Given the description of an element on the screen output the (x, y) to click on. 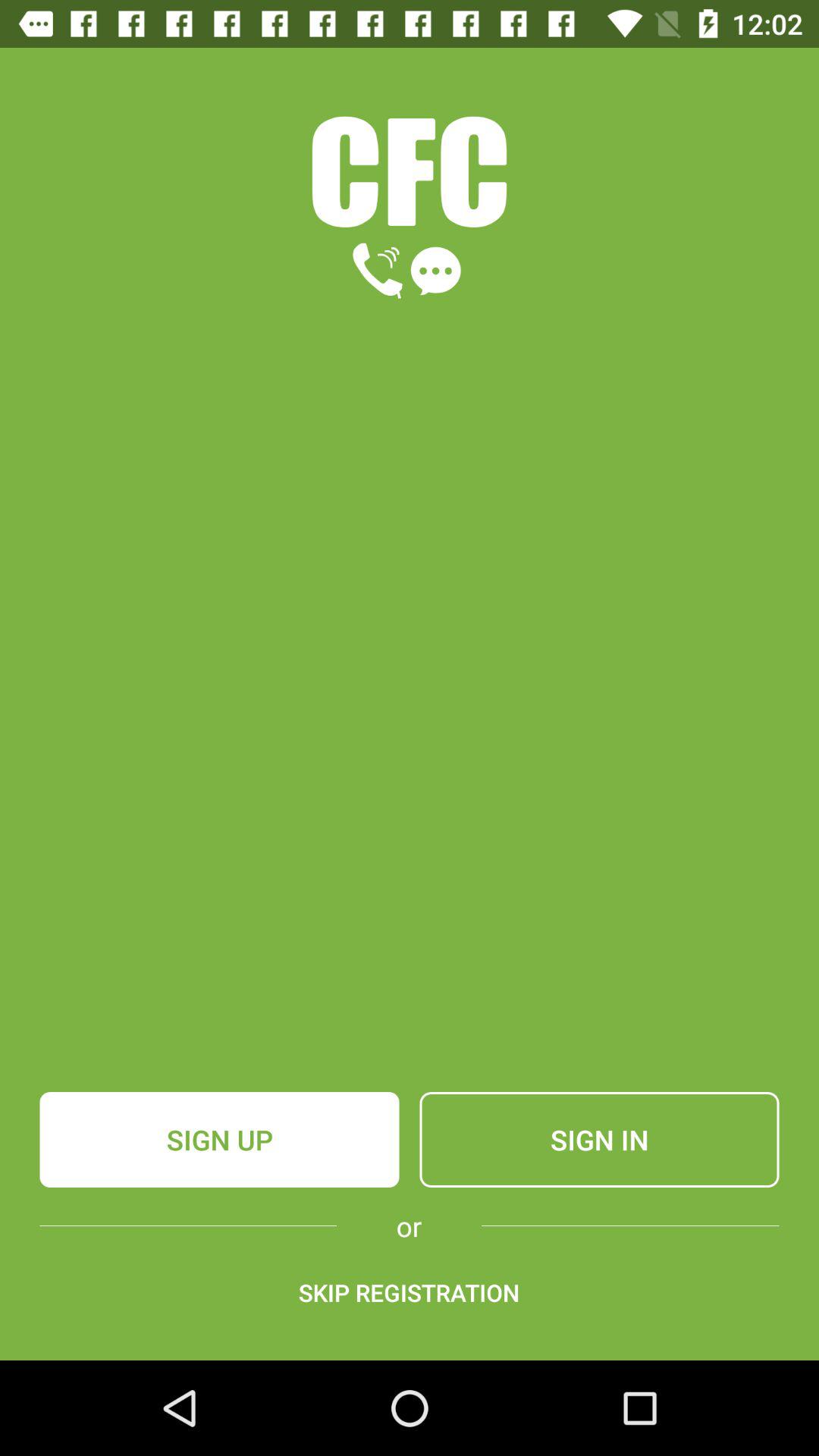
turn on the item next to sign in item (219, 1139)
